Given the description of an element on the screen output the (x, y) to click on. 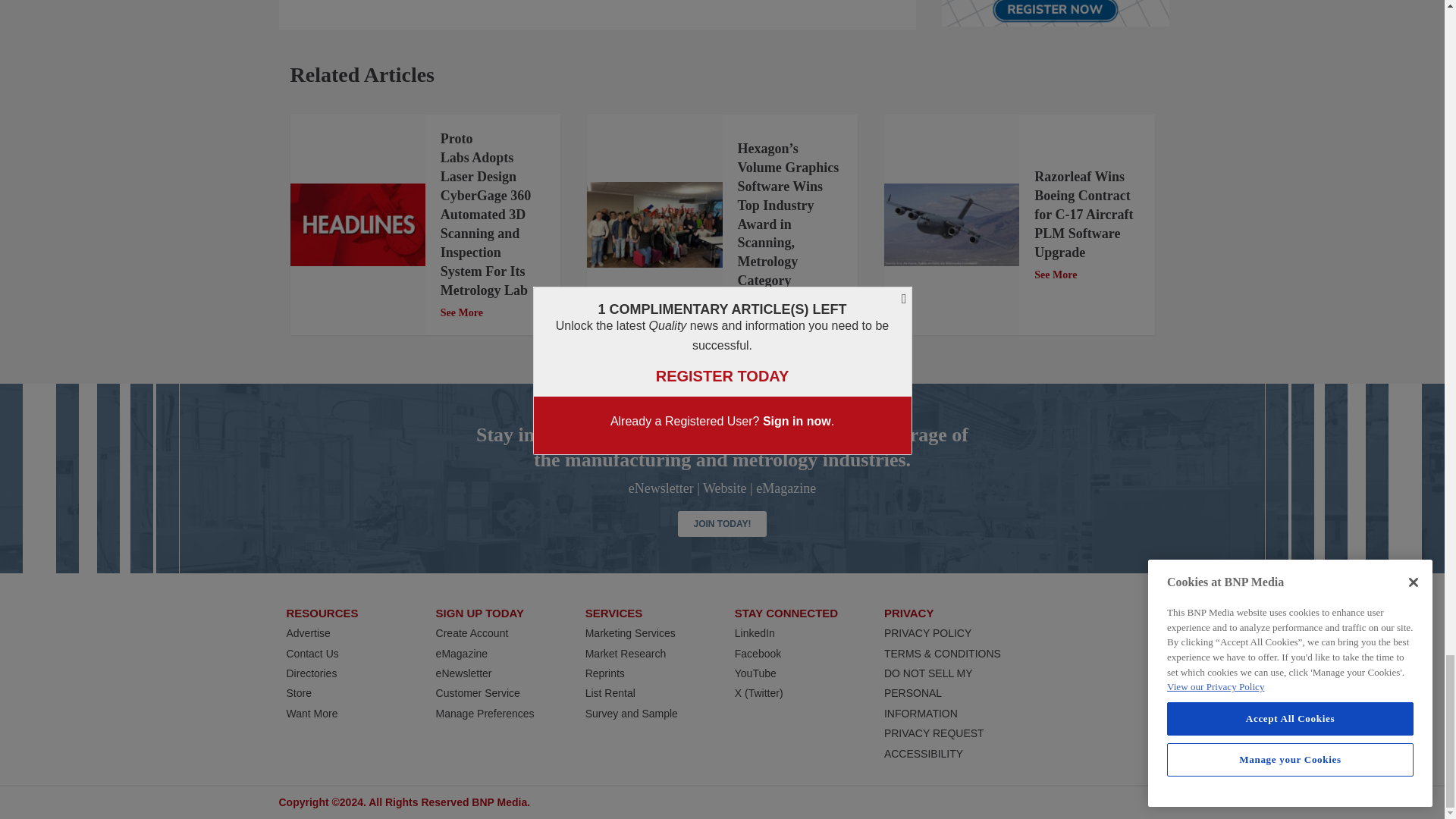
Headlines.jpg (357, 224)
Hexagon.jpg (654, 223)
Razorleaf Boeing C-17 software (951, 224)
